Given the description of an element on the screen output the (x, y) to click on. 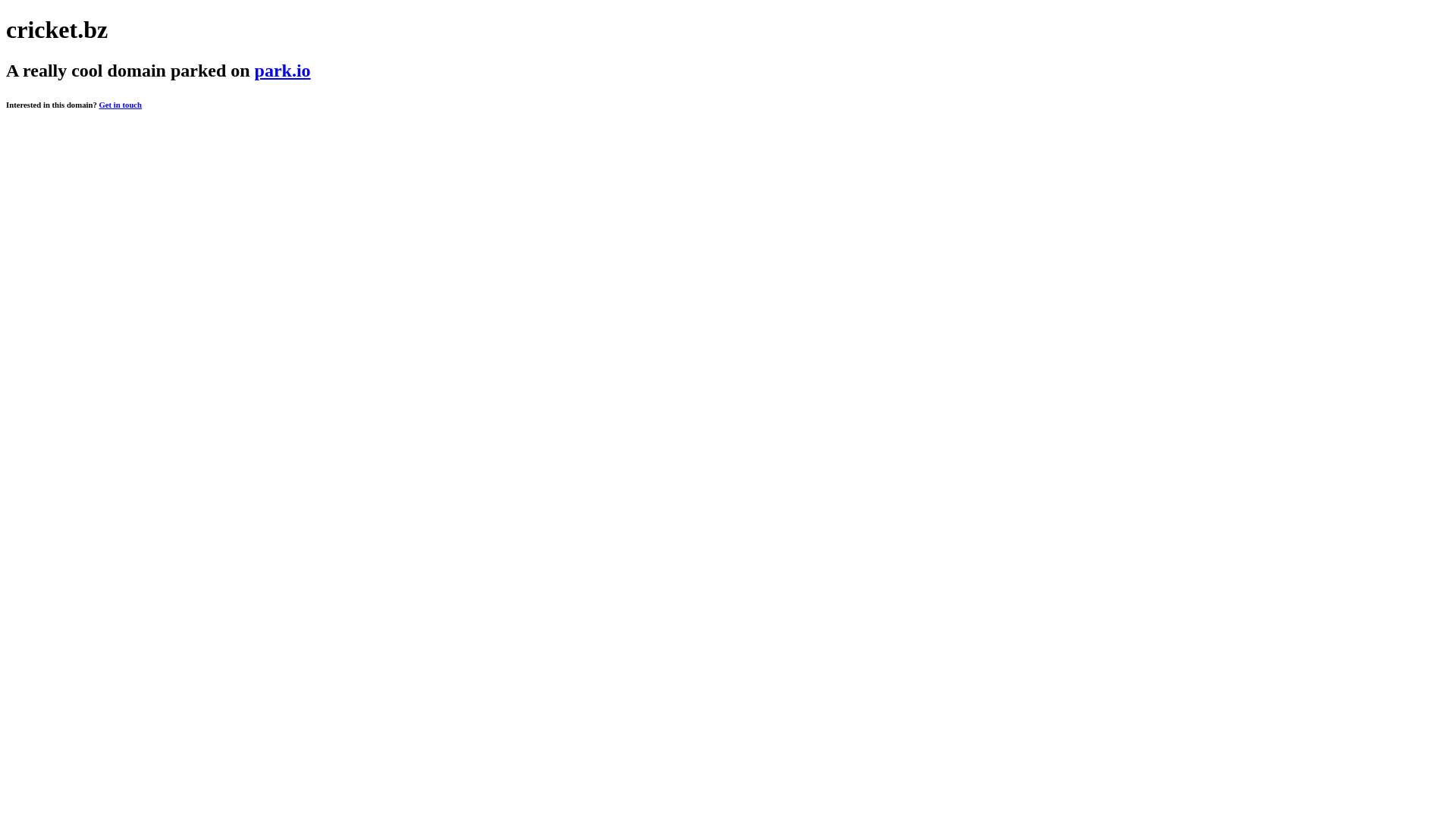
park.io Element type: text (282, 70)
Get in touch Element type: text (119, 104)
